Given the description of an element on the screen output the (x, y) to click on. 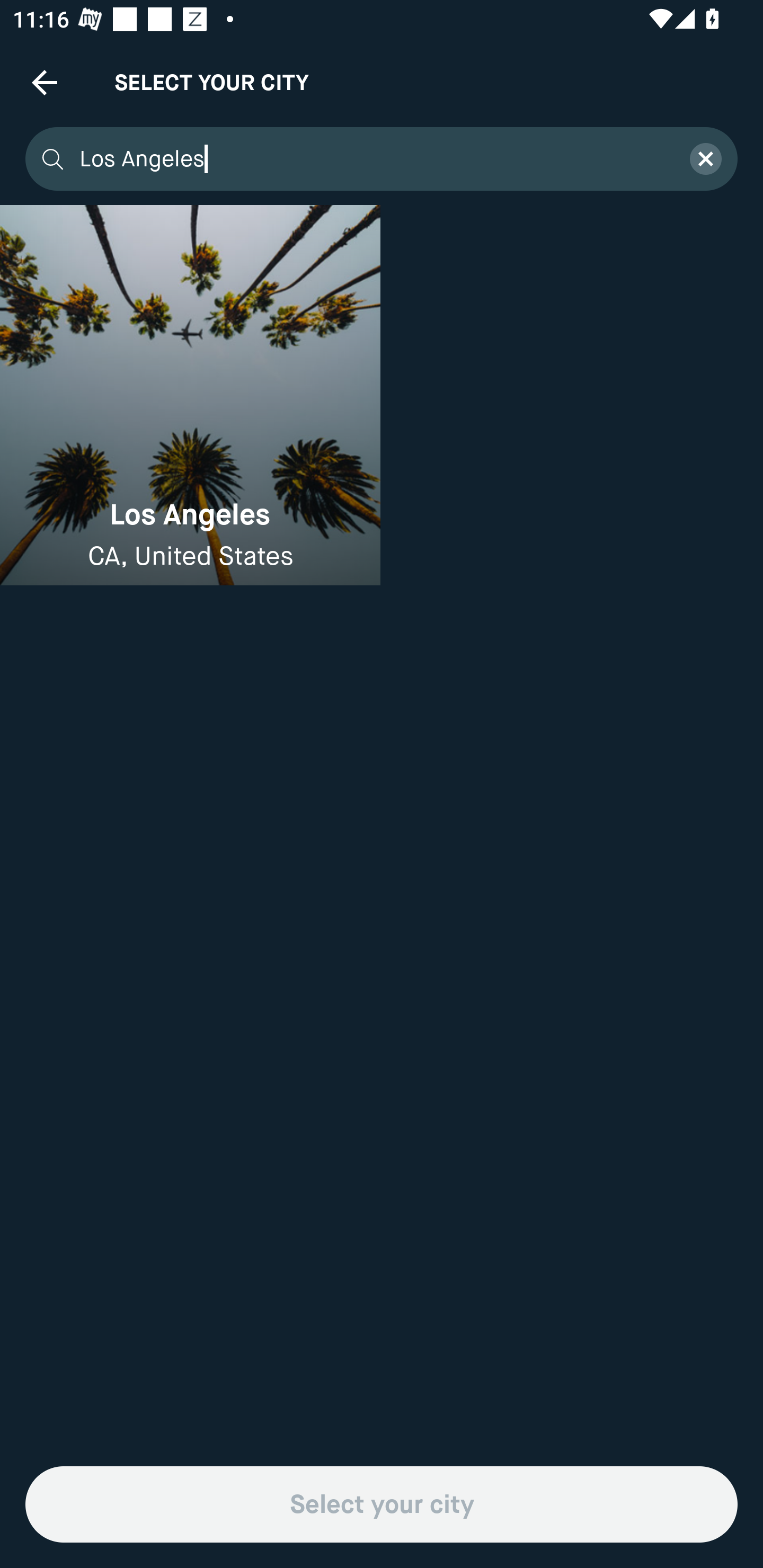
Navigate up (44, 82)
Los Angeles (373, 159)
Los Angeles CA, United States (190, 394)
Select your city (381, 1504)
